Given the description of an element on the screen output the (x, y) to click on. 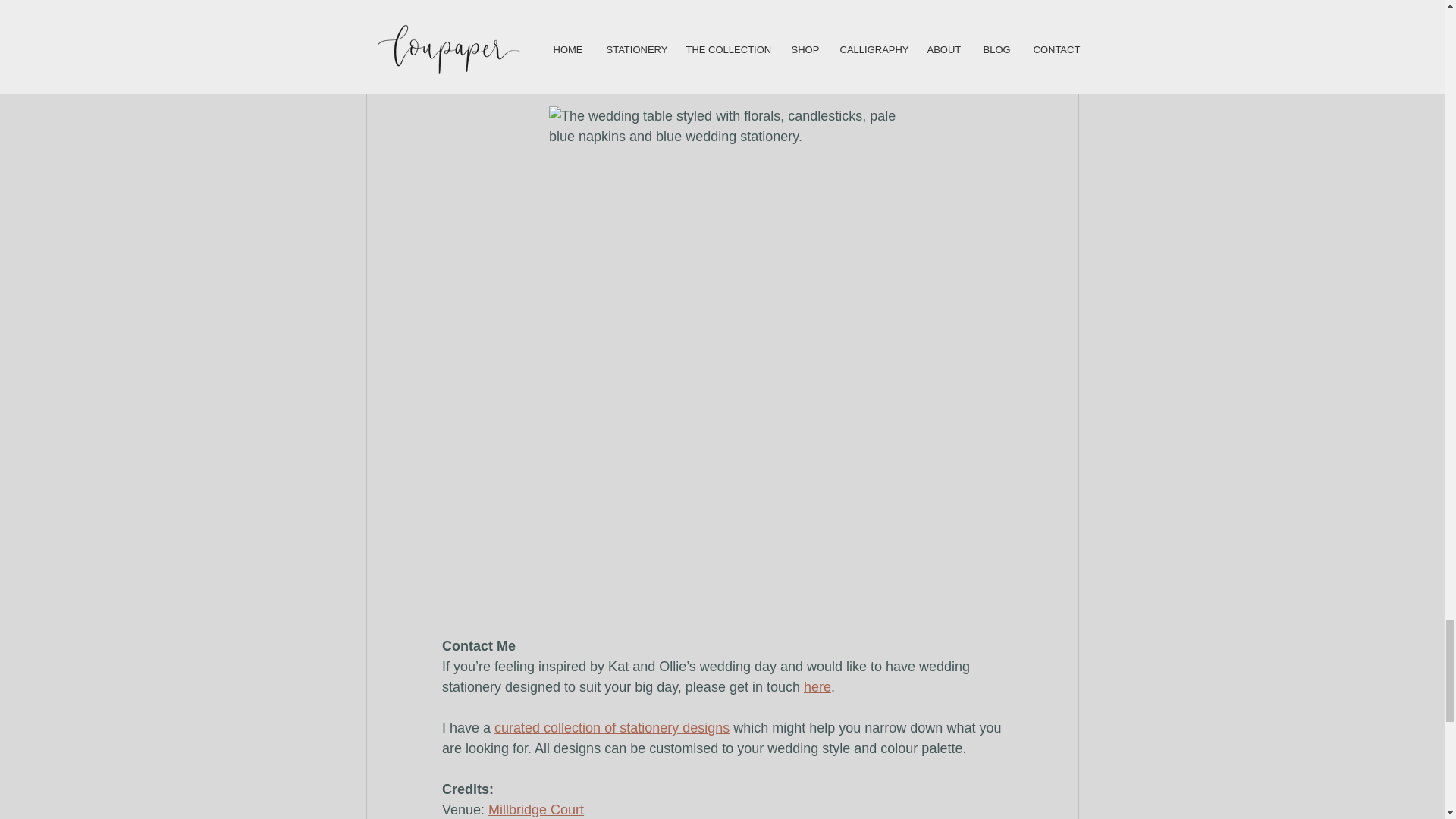
curated collection of stationery designs (612, 727)
here (816, 686)
Millbridge Court (535, 809)
